Given the description of an element on the screen output the (x, y) to click on. 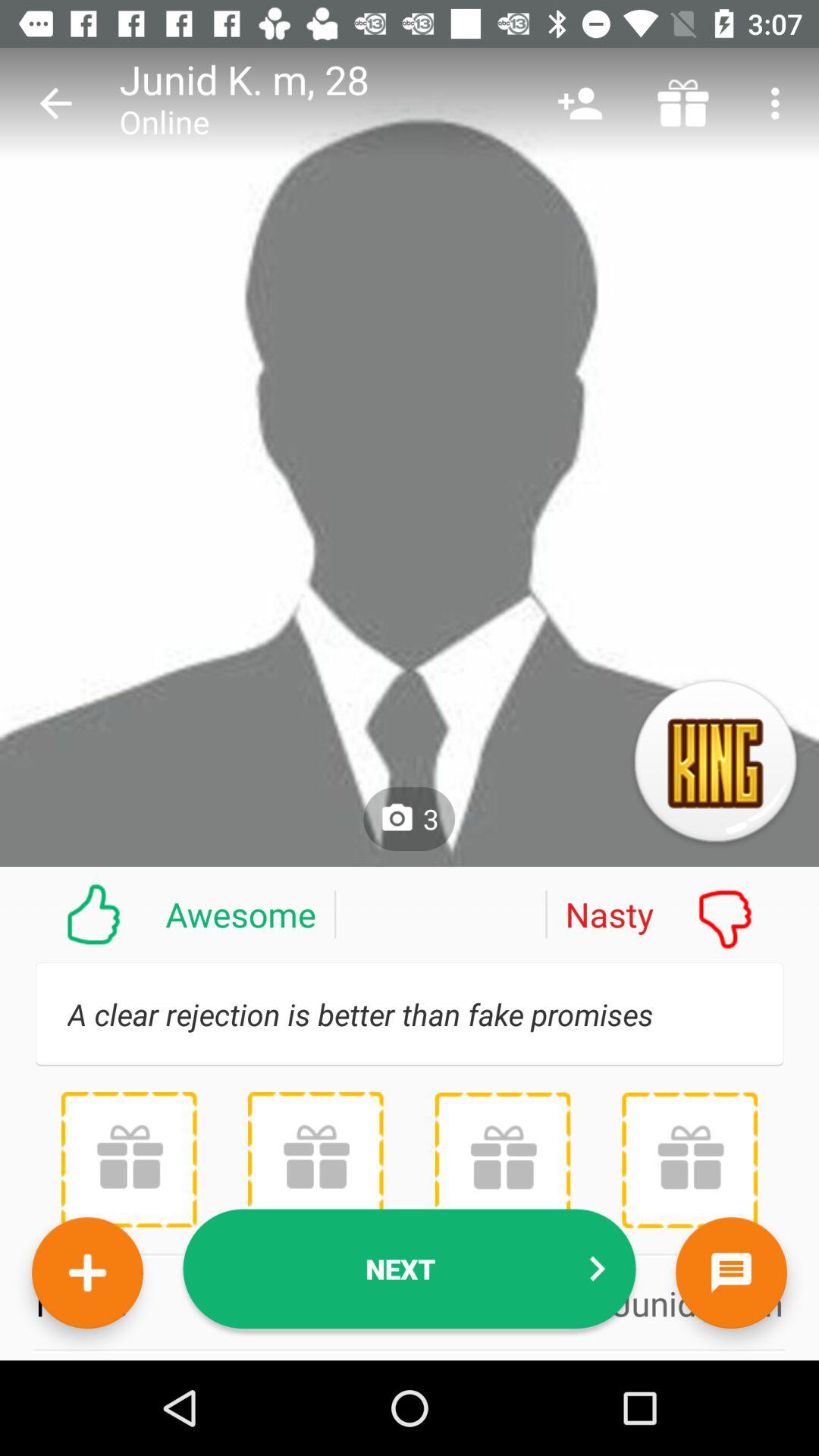
tap item above the name icon (128, 1159)
